Given the description of an element on the screen output the (x, y) to click on. 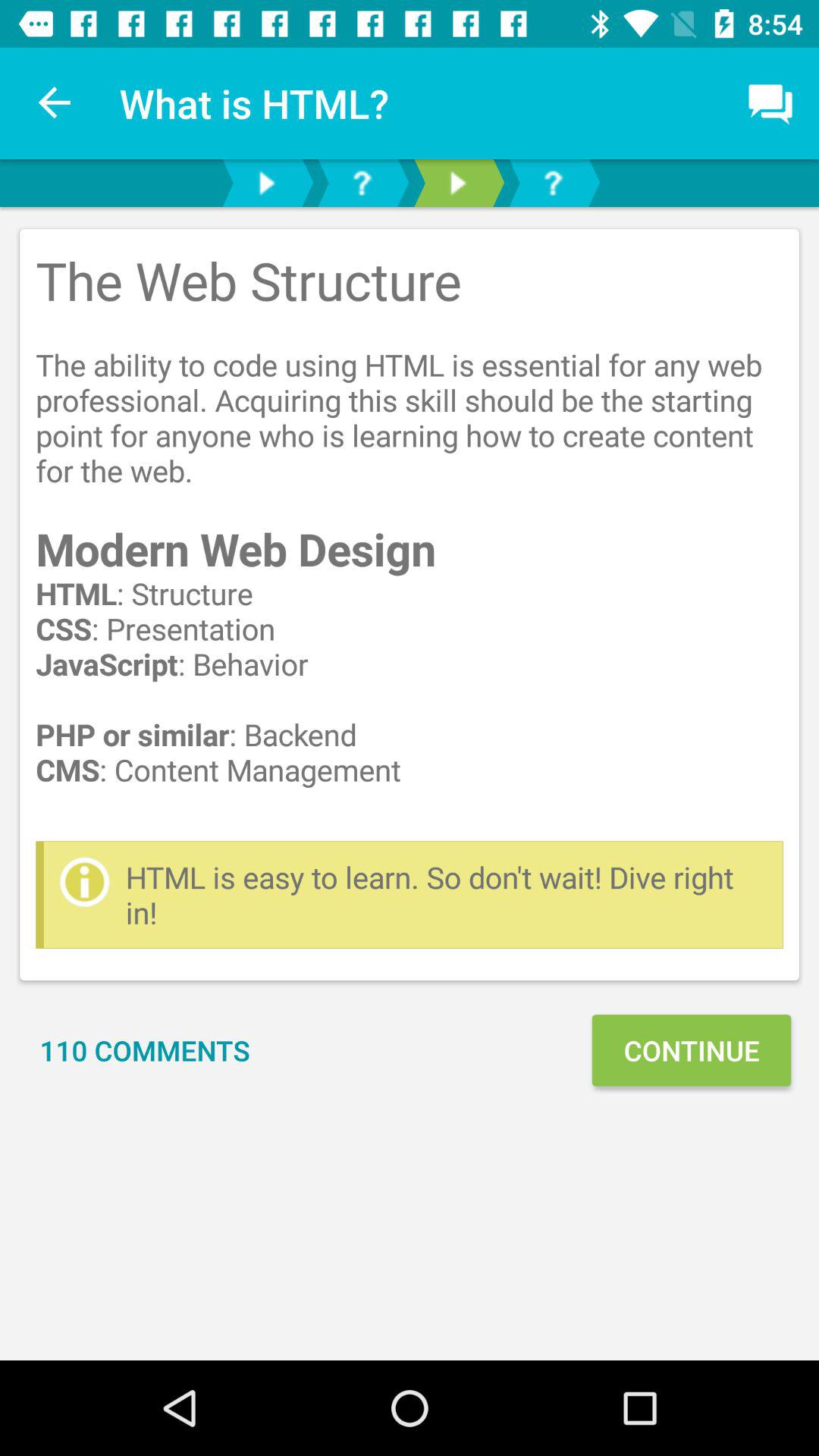
click on the information icon (84, 882)
go to the fourth icon below text what is html (552, 182)
go to text below what is html (409, 604)
select continue button which is at the right side of the page (691, 1050)
go to html is easy to learn so dont wait drive right in (446, 895)
click on comment box which is on top right hand side below notification bar (771, 103)
click on the text 110 comments (144, 1050)
